Given the description of an element on the screen output the (x, y) to click on. 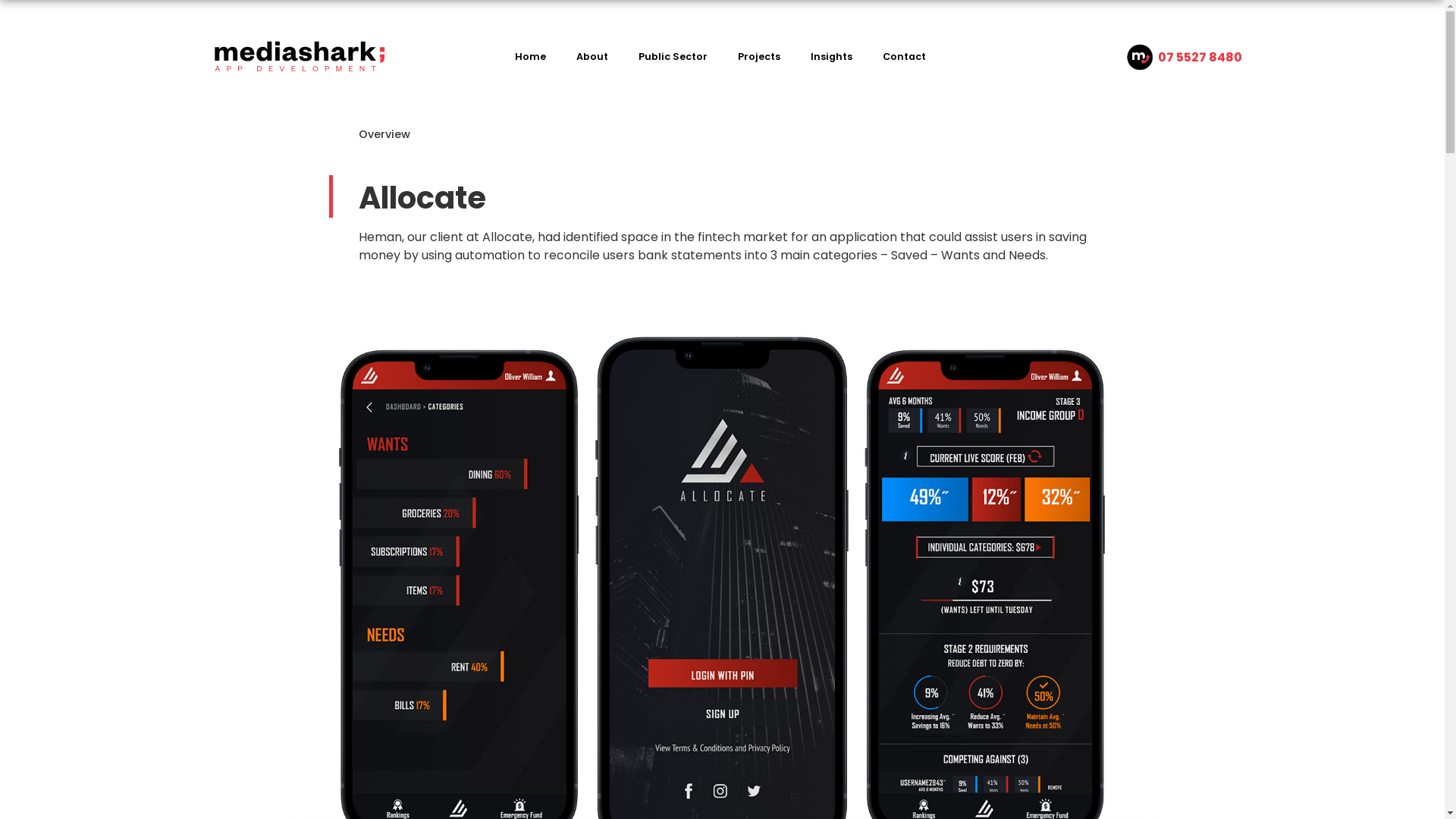
About Element type: text (592, 56)
Projects Element type: text (758, 56)
Contact Element type: text (904, 56)
Insights Element type: text (831, 56)
Home Element type: text (530, 56)
07 5527 8480 Element type: text (1199, 56)
Public Sector Element type: text (672, 56)
